Given the description of an element on the screen output the (x, y) to click on. 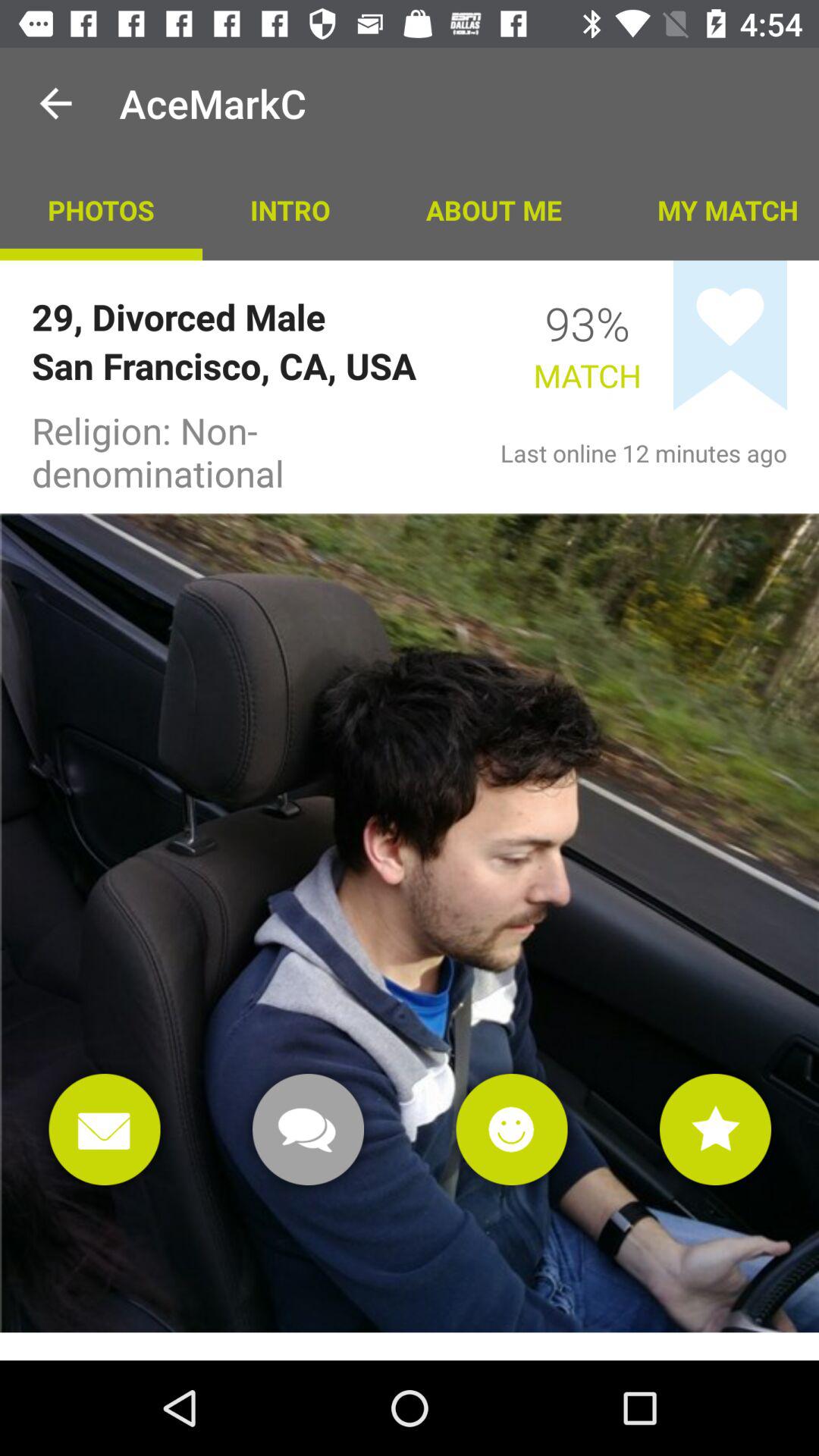
mark as important (715, 1129)
